Given the description of an element on the screen output the (x, y) to click on. 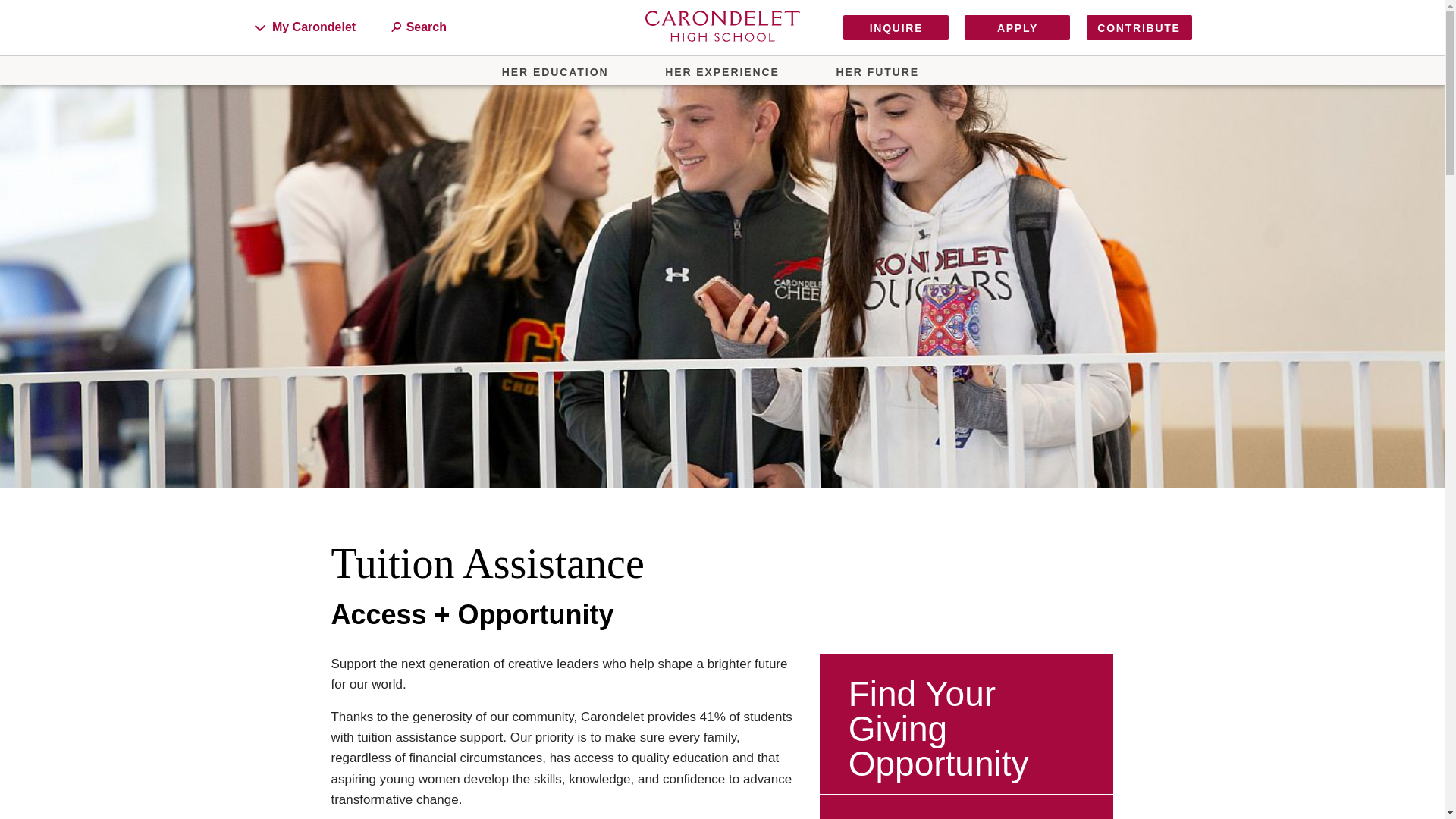
HER EDUCATION (555, 71)
APPLY (1016, 27)
CONTRIBUTE (1138, 27)
My Carondelet (308, 27)
HER EXPERIENCE (721, 71)
INQUIRE (896, 27)
HER FUTURE (876, 71)
